Given the description of an element on the screen output the (x, y) to click on. 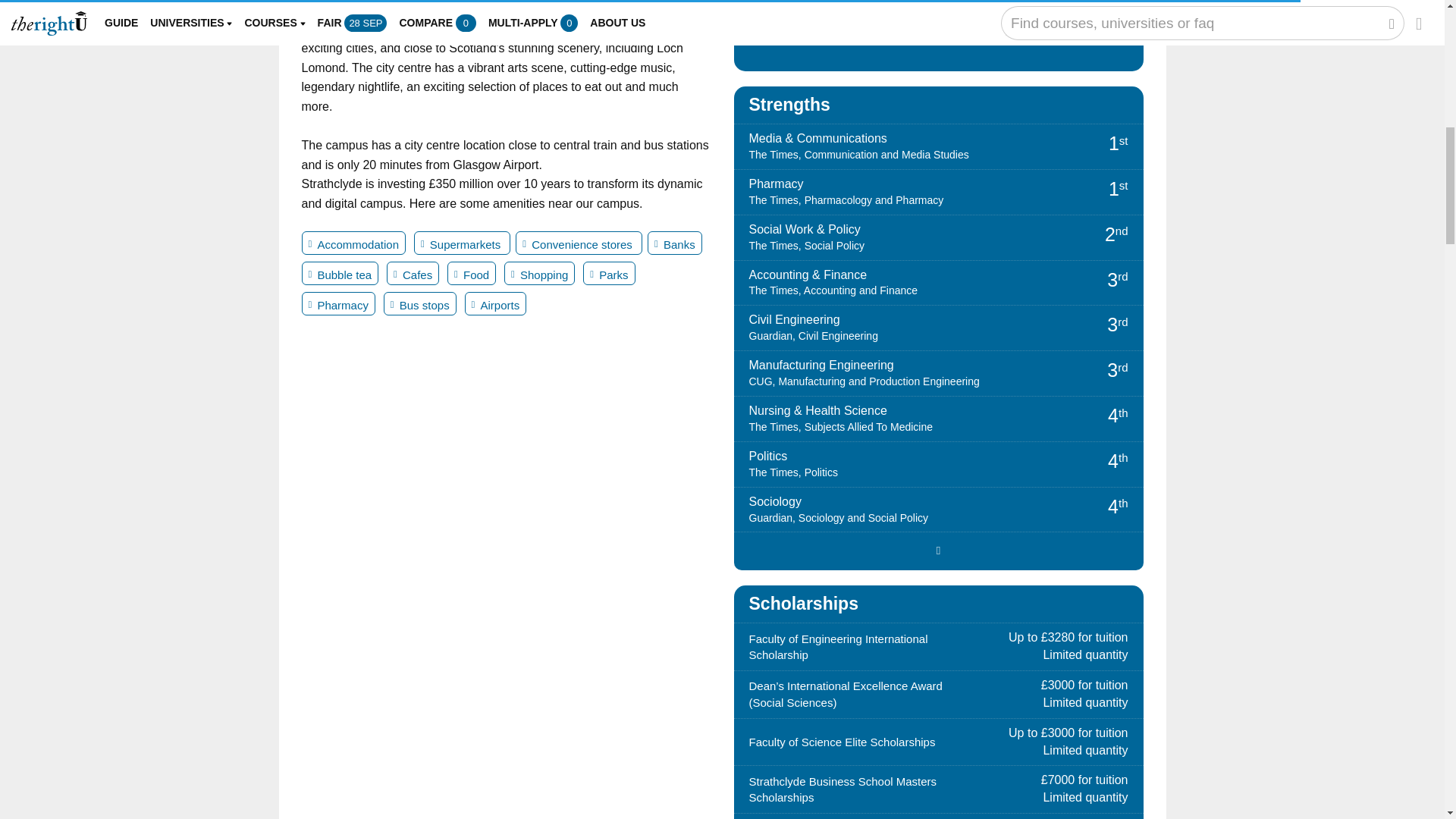
Accommodation (353, 242)
Convenience stores (578, 242)
Banks (674, 242)
John Anderson Campus (368, 3)
Supermarkets (462, 242)
